Given the description of an element on the screen output the (x, y) to click on. 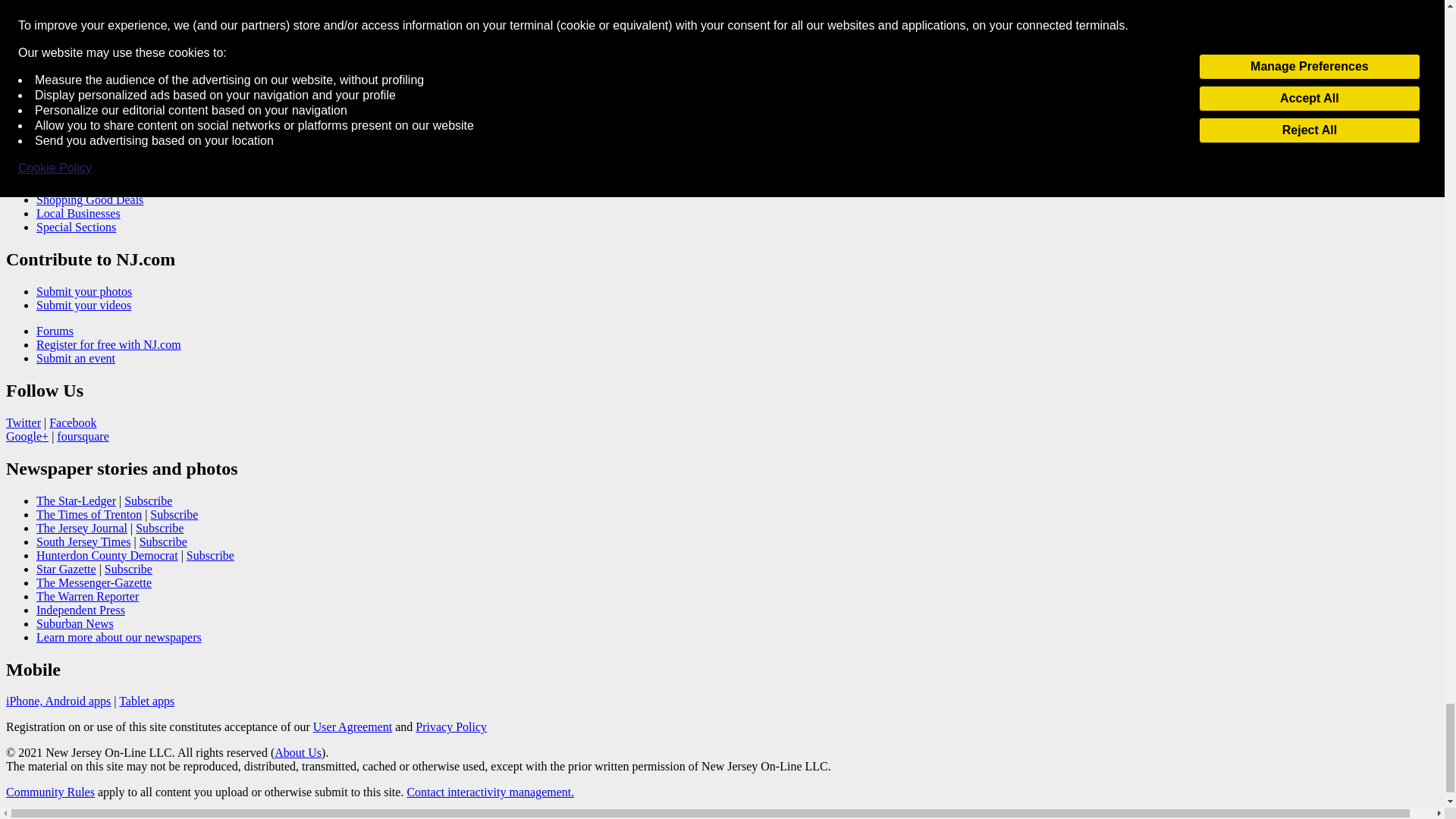
Community Rules (489, 791)
Privacy Policy (450, 726)
Community Rules (49, 791)
User Agreement (352, 726)
